Given the description of an element on the screen output the (x, y) to click on. 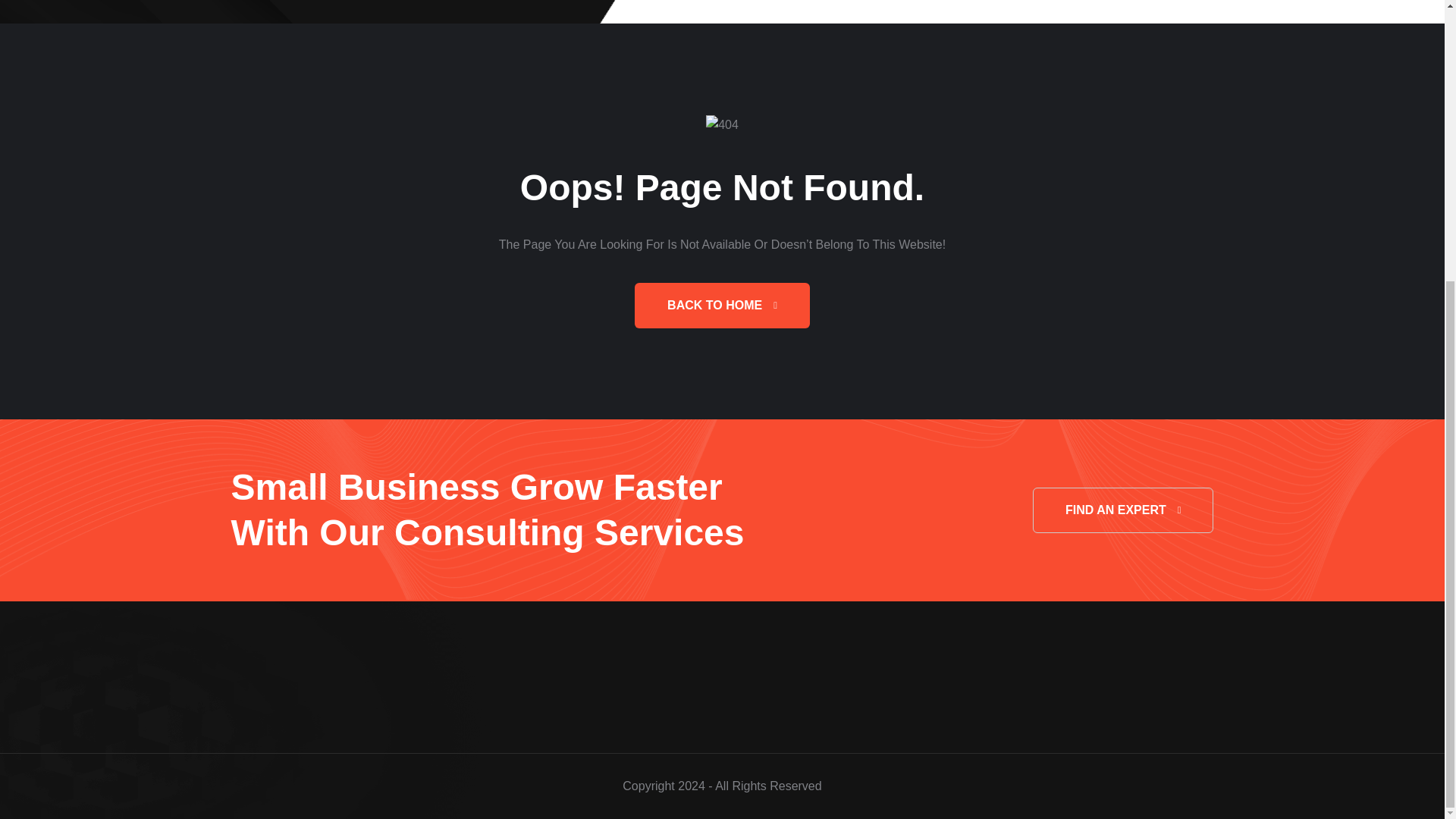
BACK TO HOME (721, 305)
FIND AN EXPERT (1123, 510)
Search (744, 420)
